Given the description of an element on the screen output the (x, y) to click on. 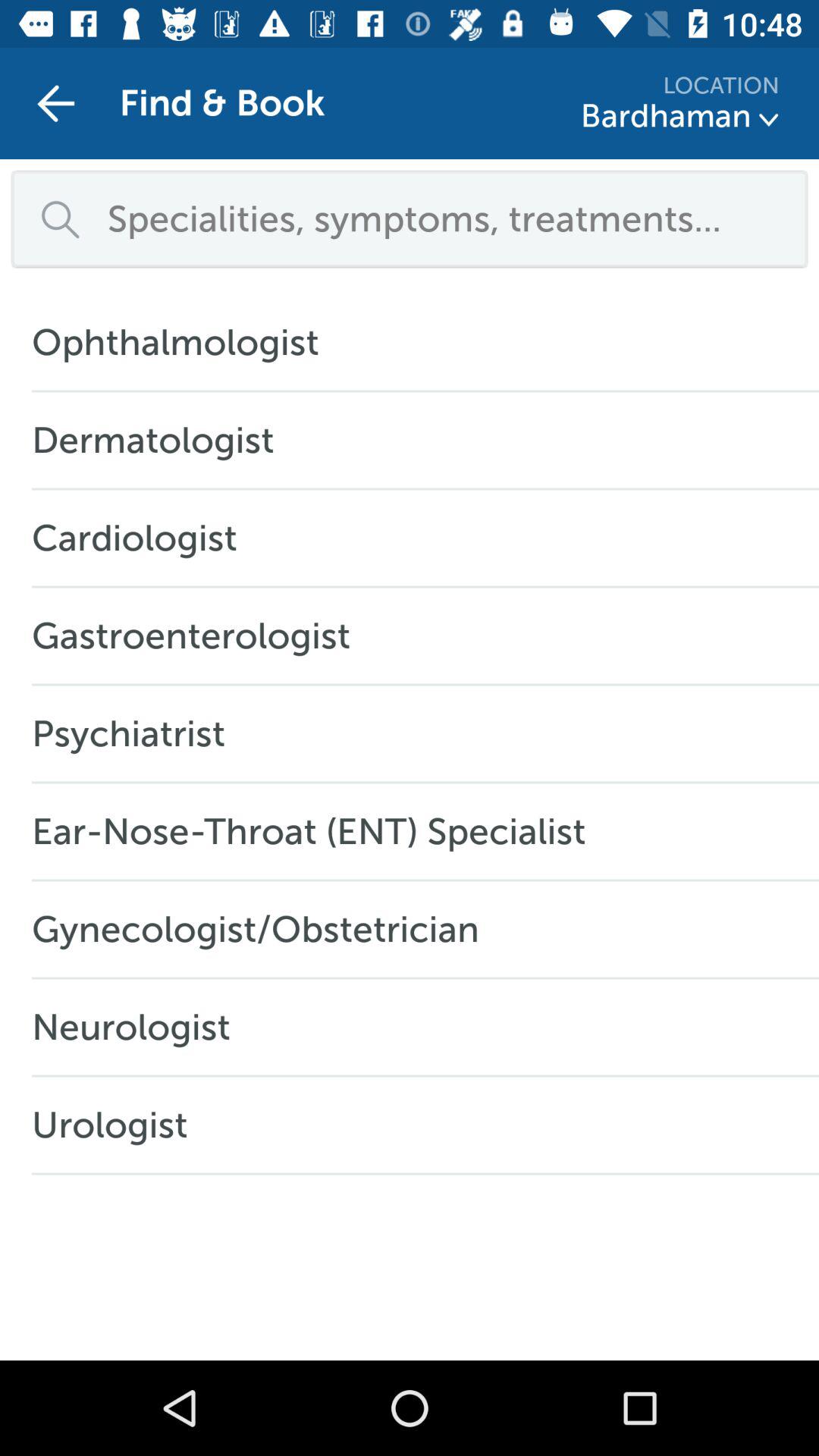
select item below the gynecologist/obstetrician item (138, 1026)
